Given the description of an element on the screen output the (x, y) to click on. 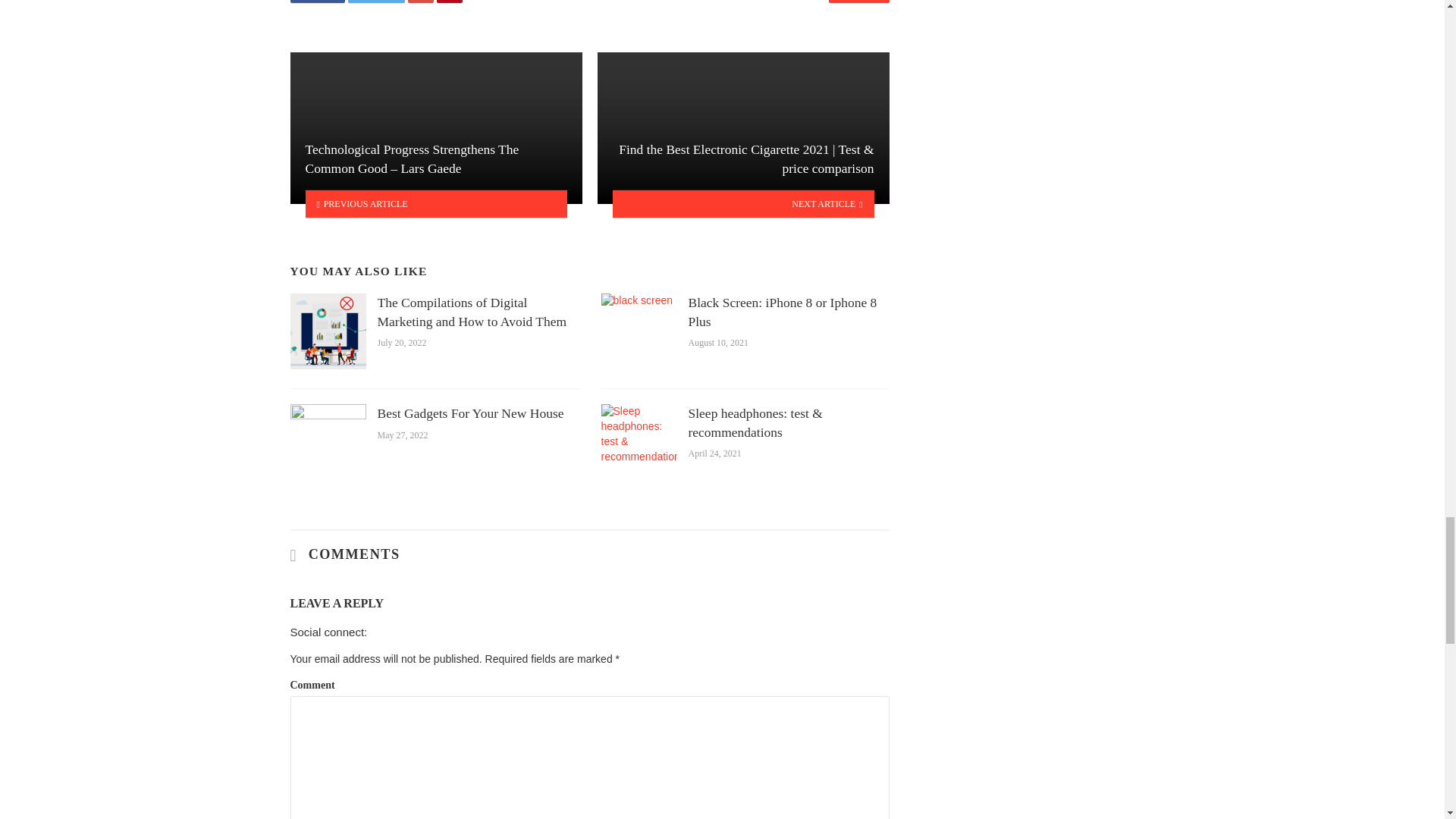
PREVIOUS ARTICLE (434, 203)
0 (858, 1)
Share on Pinterest (449, 1)
Share on Facebook (317, 1)
July 20, 2022 at 1:04 pm (401, 342)
Tweet (375, 1)
Share on Twitter (375, 1)
The Compilations of Digital Marketing and How to Avoid Them (477, 311)
0 Comments (858, 1)
NEXT ARTICLE (742, 203)
